Given the description of an element on the screen output the (x, y) to click on. 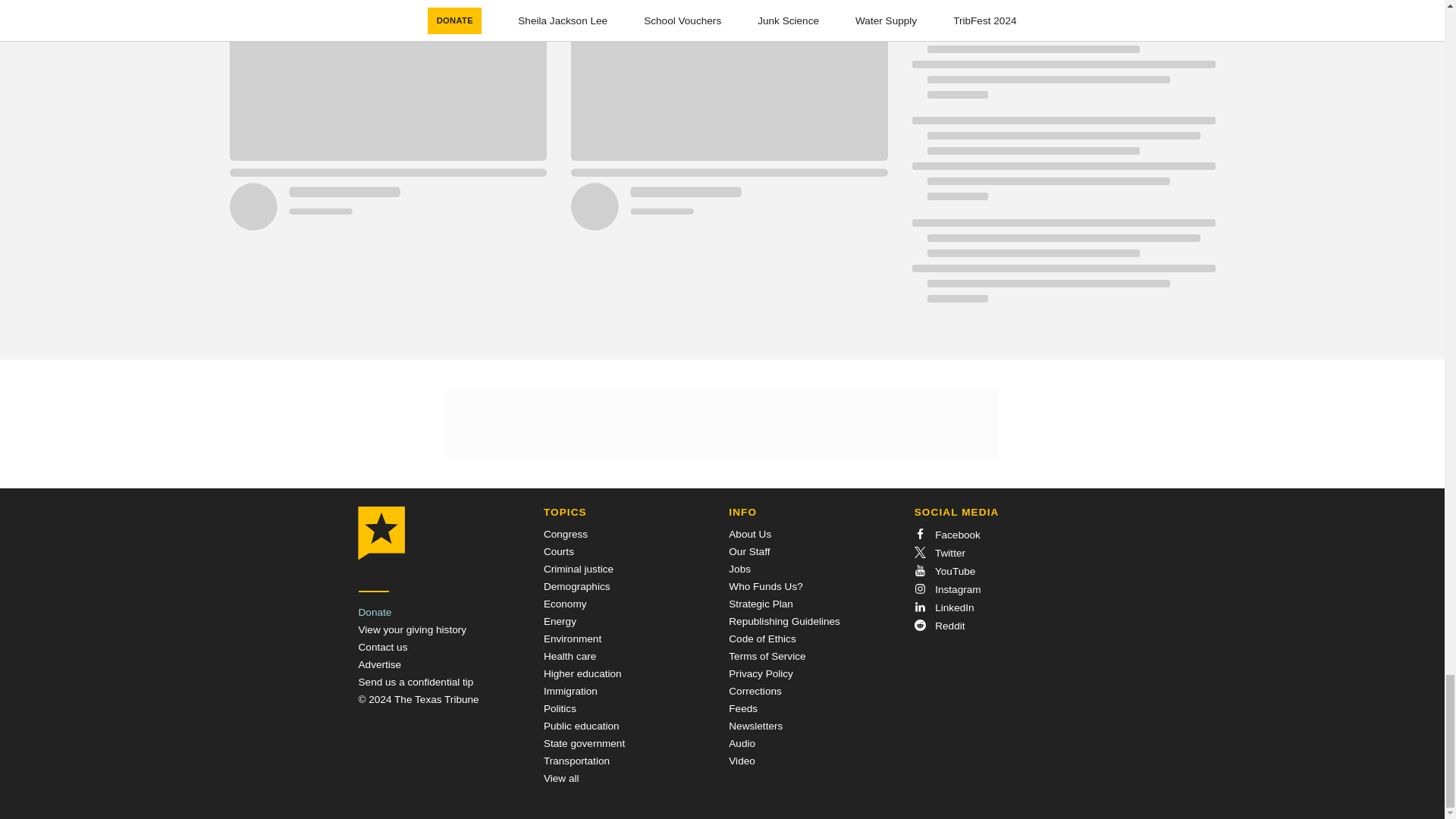
Feeds (743, 708)
Privacy Policy (761, 673)
Facebook (946, 534)
Code of Ethics (761, 638)
Terms of Service (767, 655)
Loading indicator (1062, 5)
Loading indicator (1062, 64)
Newsletters (756, 726)
View your giving history (411, 629)
Corrections (755, 690)
Contact us (382, 646)
Strategic Plan (761, 603)
Send a Tip (415, 681)
Loading indicator (1062, 166)
Republishing Guidelines (784, 621)
